Given the description of an element on the screen output the (x, y) to click on. 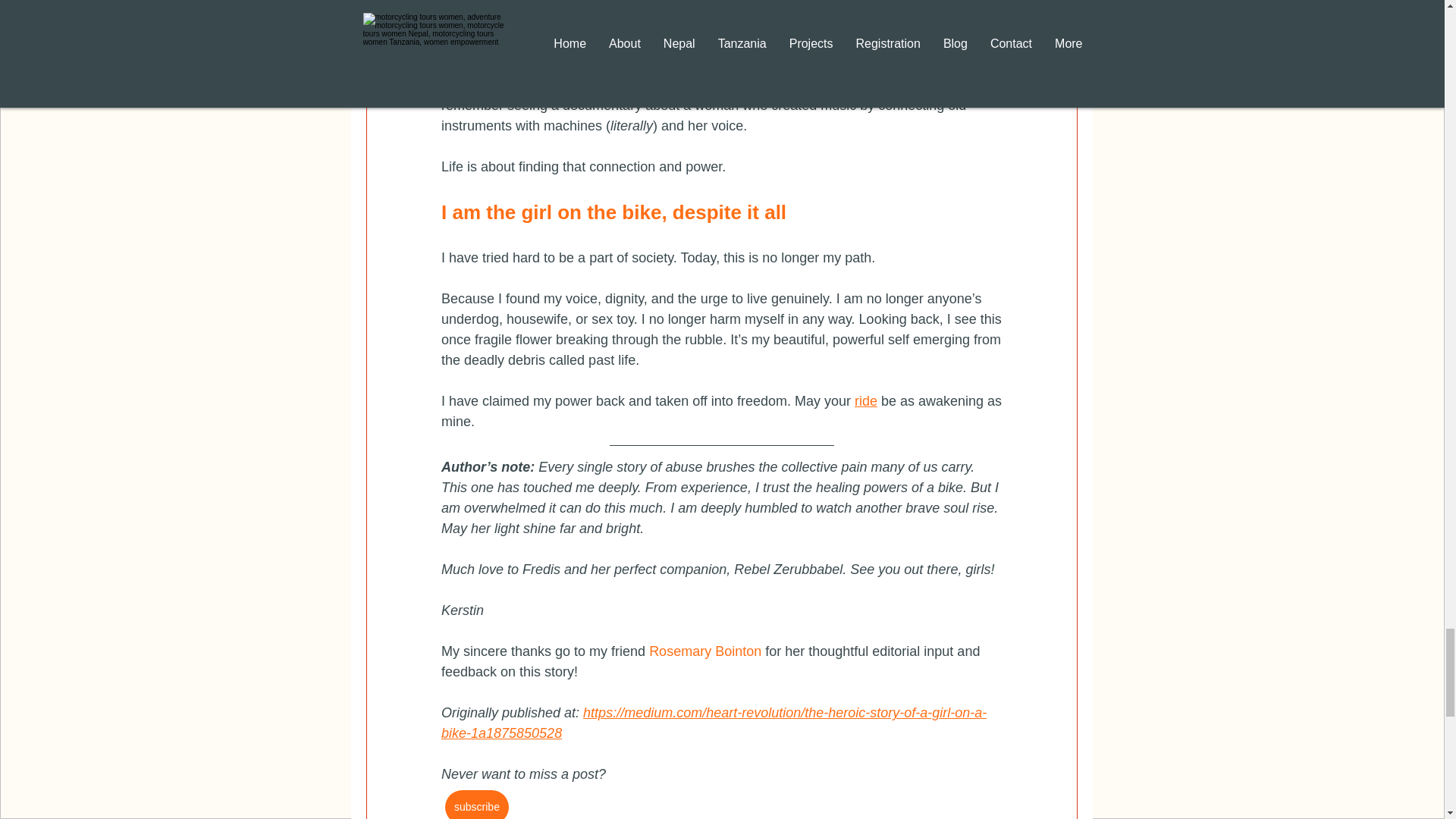
subscribe (476, 804)
Rosemary Bointon (705, 651)
ride (864, 400)
